Given the description of an element on the screen output the (x, y) to click on. 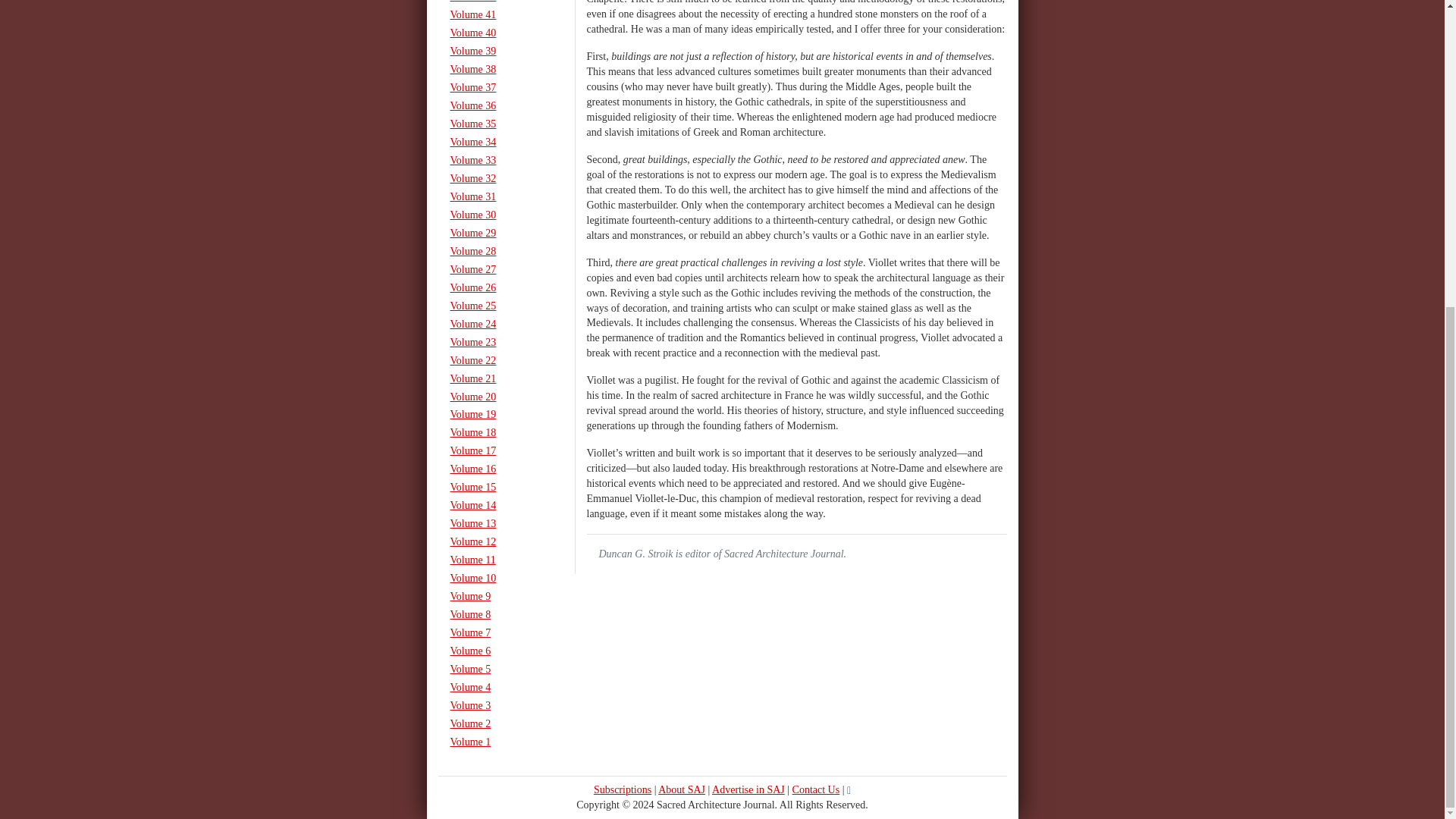
Volume 42 (500, 2)
Volume 27 (500, 270)
Volume 39 (500, 51)
Contact Us (816, 789)
Volume 24 (500, 324)
Volume 35 (500, 124)
About SAJ (681, 789)
Volume 32 (500, 178)
Volume 33 (500, 160)
Volume 15 (500, 487)
